Given the description of an element on the screen output the (x, y) to click on. 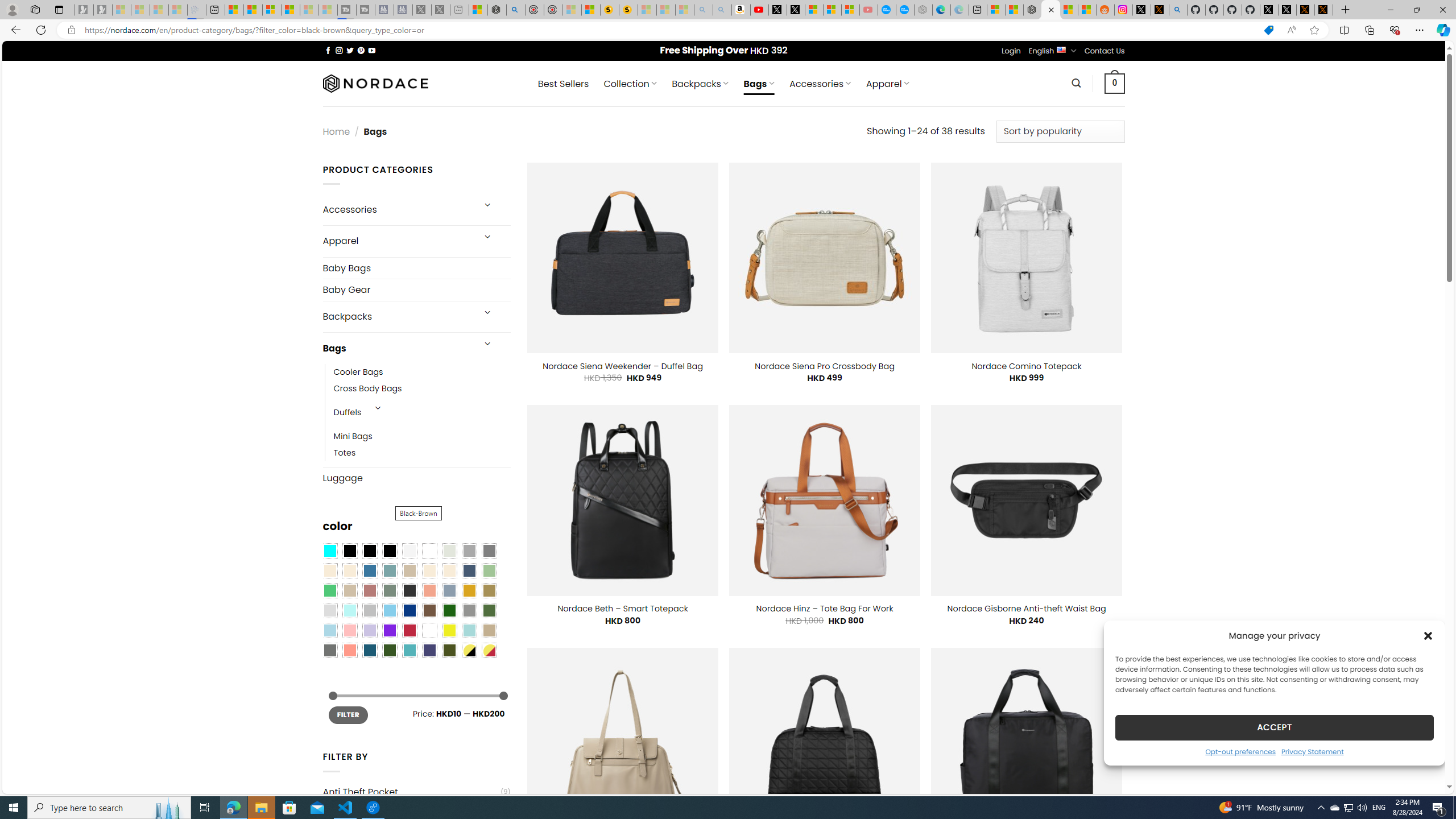
The most popular Google 'how to' searches (904, 9)
Teal (408, 649)
Nordace Gisborne Anti-theft Waist Bag (1026, 608)
White (429, 630)
Dull Nickle (329, 649)
Wildlife - MSN (478, 9)
Yellow-Red (488, 649)
Baby Bags (416, 268)
Contact Us (1104, 50)
